Given the description of an element on the screen output the (x, y) to click on. 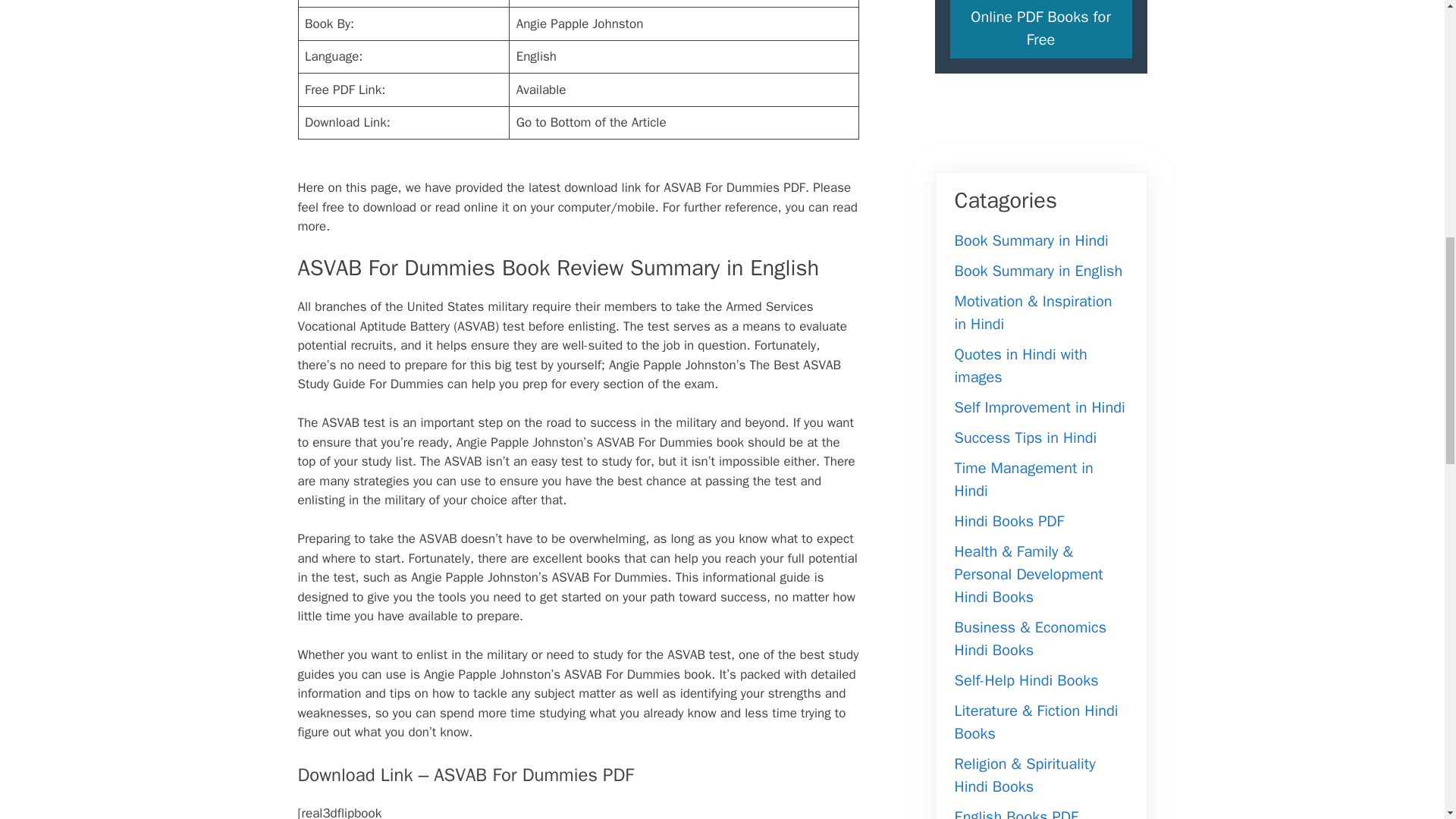
Time Management in Hindi (1023, 479)
Online PDF Books for Free (1040, 29)
Self Improvement in Hindi (1038, 407)
Quotes in Hindi with images (1019, 365)
Self-Help Hindi Books (1025, 680)
Book Summary in Hindi (1030, 240)
Success Tips in Hindi (1024, 437)
Book Summary in English (1037, 270)
Hindi Books PDF (1008, 520)
